Given the description of an element on the screen output the (x, y) to click on. 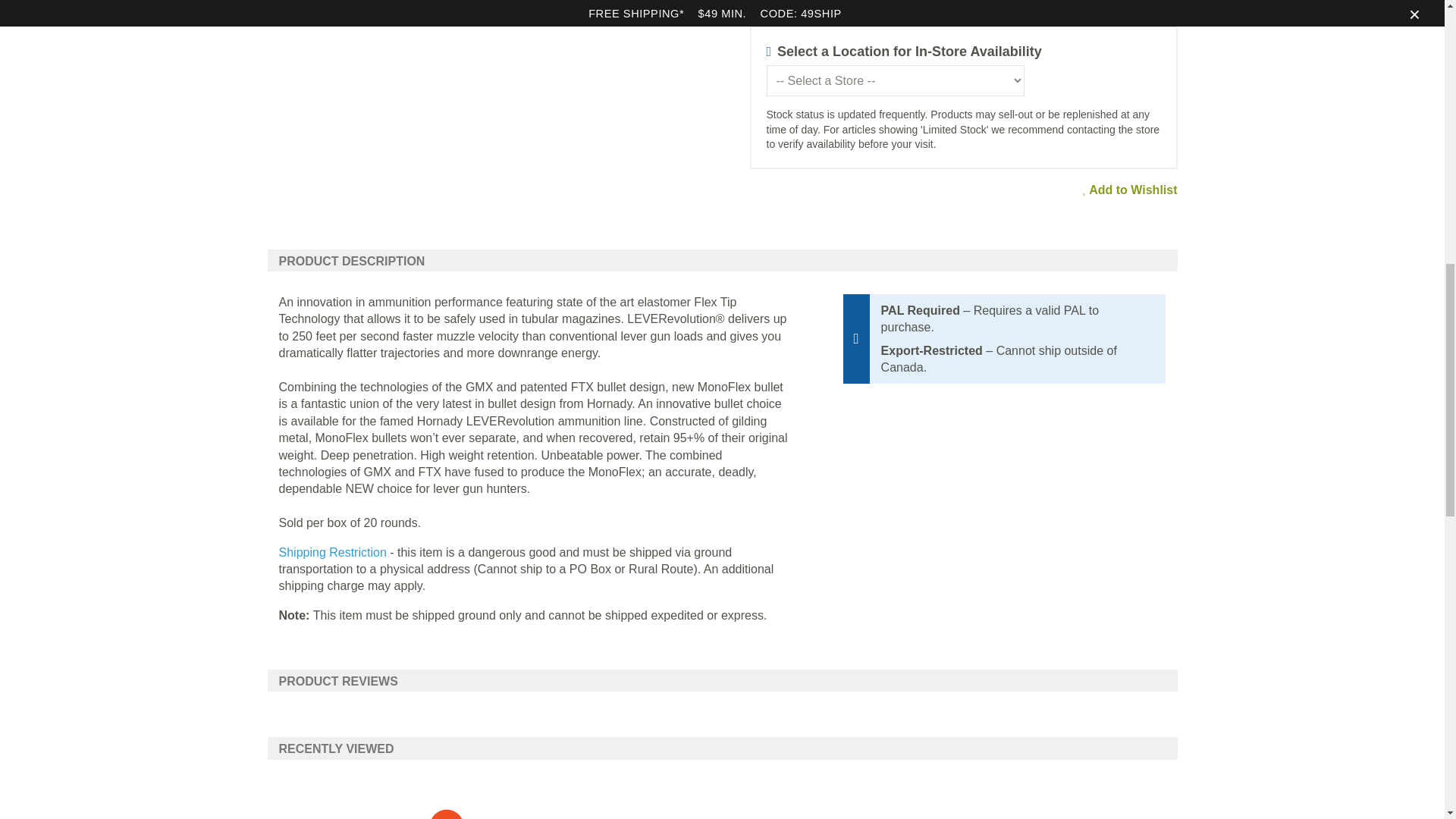
Hornady LEVERevolution Lever Action Ammunition (287, 9)
